Given the description of an element on the screen output the (x, y) to click on. 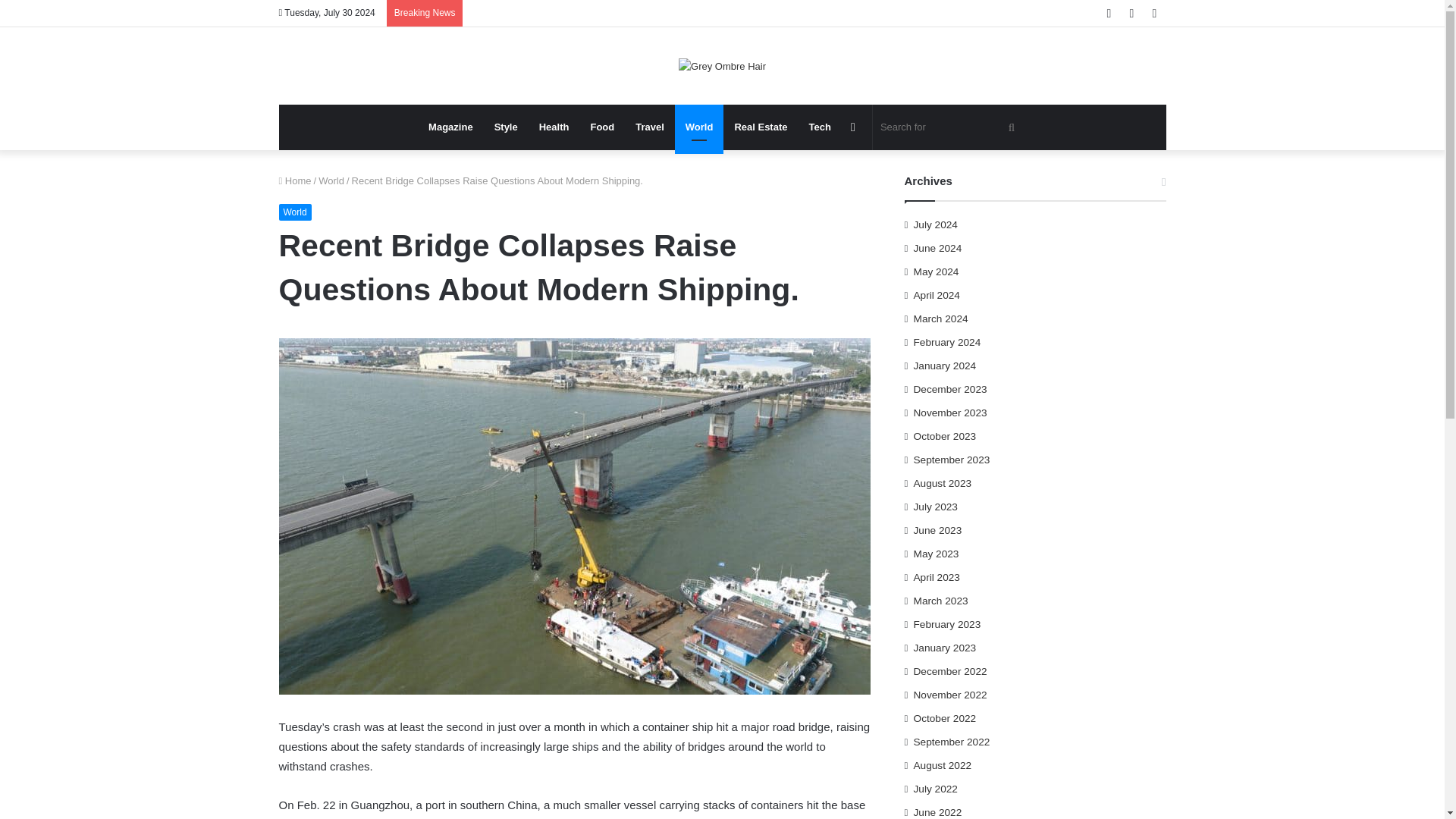
Search for (949, 126)
Real Estate (760, 126)
Tech (819, 126)
Style (505, 126)
Food (601, 126)
Health (553, 126)
Grey Ombre Hair (721, 65)
World (699, 126)
Magazine (450, 126)
Home (295, 180)
World (330, 180)
Travel (649, 126)
World (295, 211)
